Given the description of an element on the screen output the (x, y) to click on. 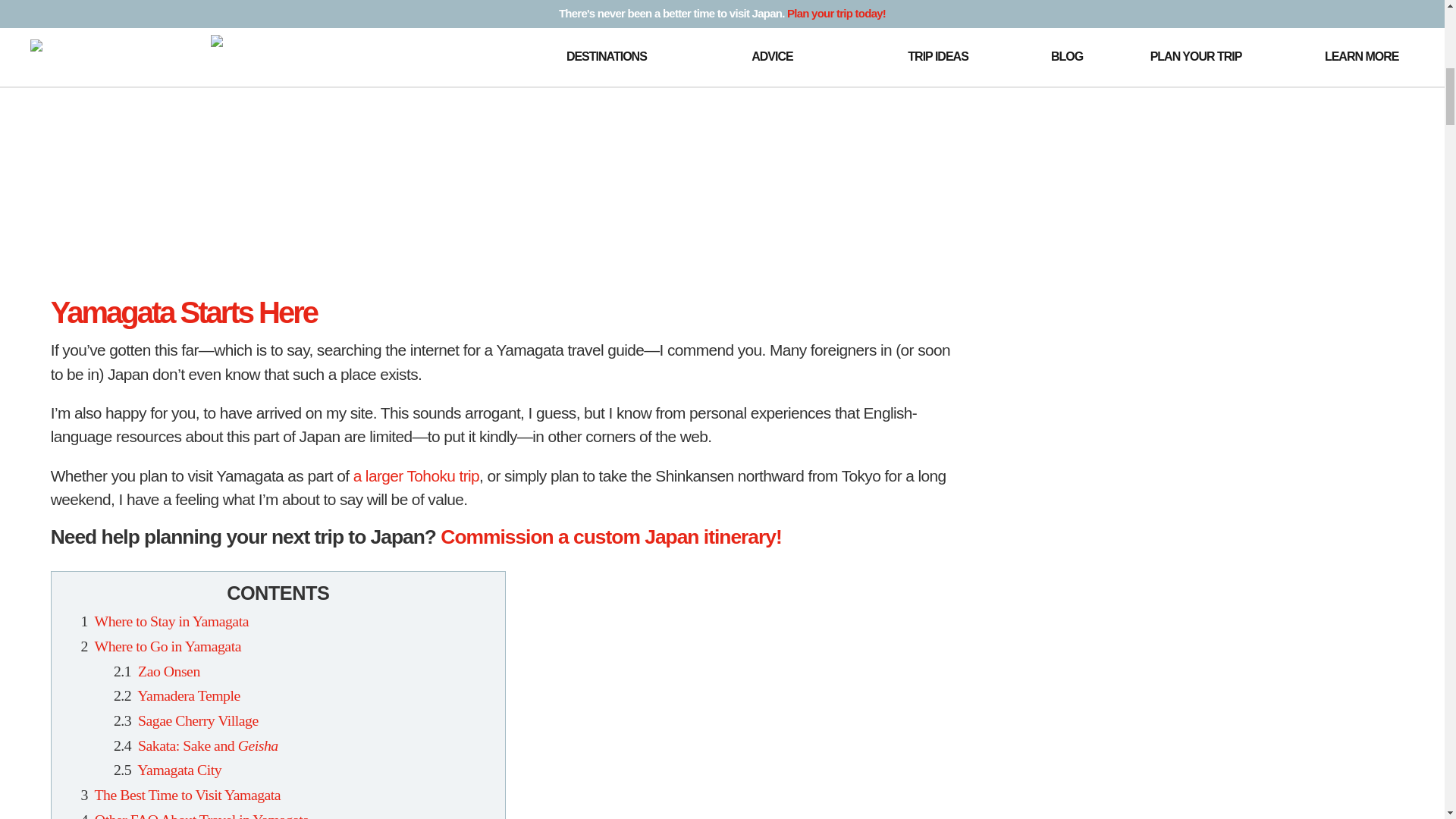
Other FAQ About Travel in Yamagata (201, 815)
Zao Onsen (169, 670)
The Best Time to Visit Yamagata (187, 794)
Sakata: Sake and Geisha (208, 745)
a larger Tohoku trip (416, 475)
Sagae Cherry Village (198, 719)
Yamadera Temple (188, 695)
Commission a custom Japan itinerary! (610, 536)
Where to Go in Yamagata (167, 646)
Where to Stay in Yamagata (171, 620)
Yamagata City (178, 769)
